Given the description of an element on the screen output the (x, y) to click on. 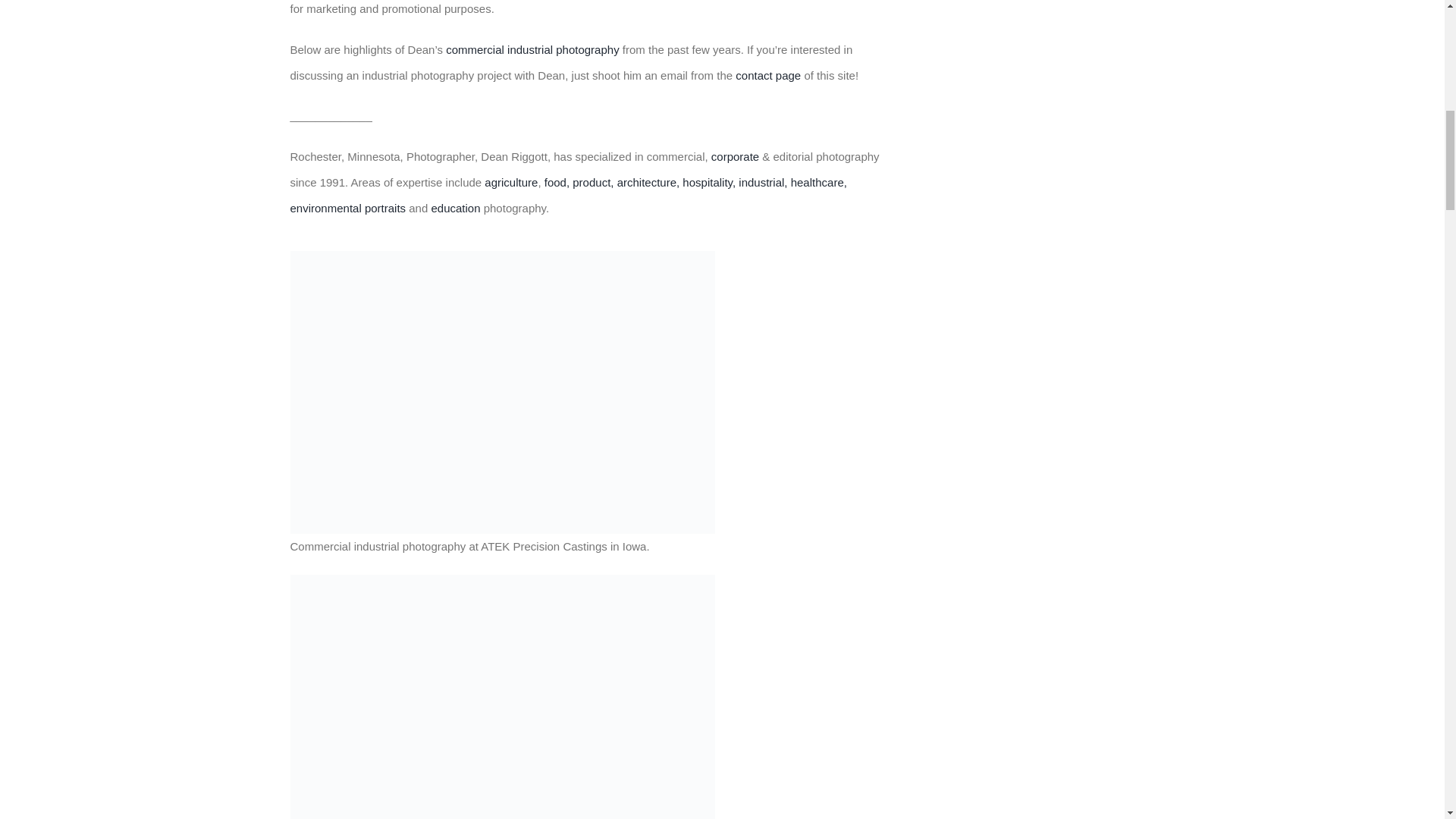
food, (556, 182)
product, (592, 182)
industrial photography (563, 49)
contact page (767, 74)
education (455, 207)
agriculture (510, 182)
environmental portraits (347, 207)
hospitality, (708, 182)
architecture, (648, 182)
healthcare, (818, 182)
industrial, (762, 182)
corporate (734, 155)
commercial (474, 49)
